Given the description of an element on the screen output the (x, y) to click on. 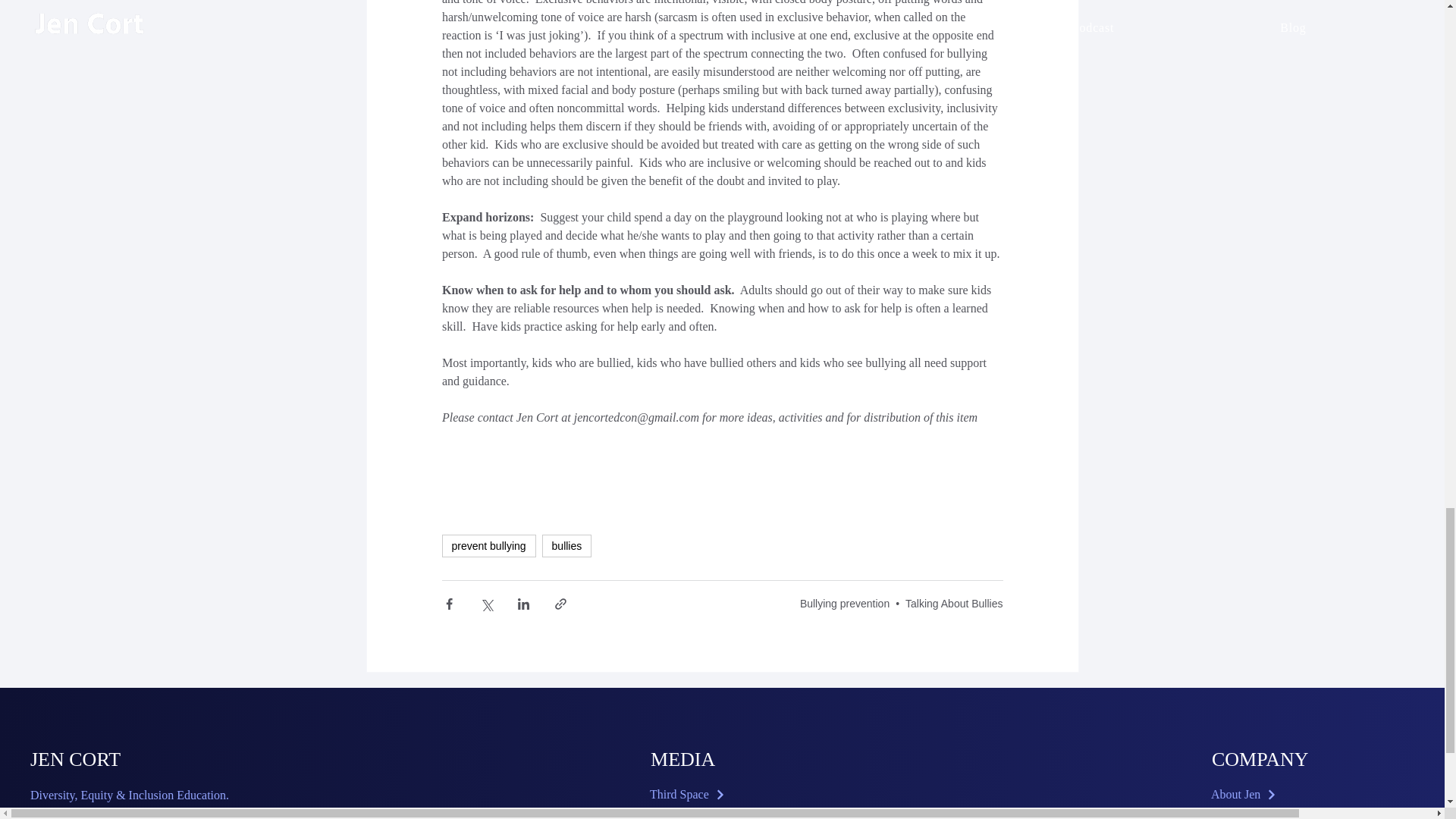
bullies (566, 545)
About Jen (1289, 794)
Bullying prevention (844, 603)
Talking About Bullies (954, 603)
Mugging for the Camera (727, 816)
Blog (1289, 816)
prevent bullying (488, 545)
Third Space (727, 794)
